Given the description of an element on the screen output the (x, y) to click on. 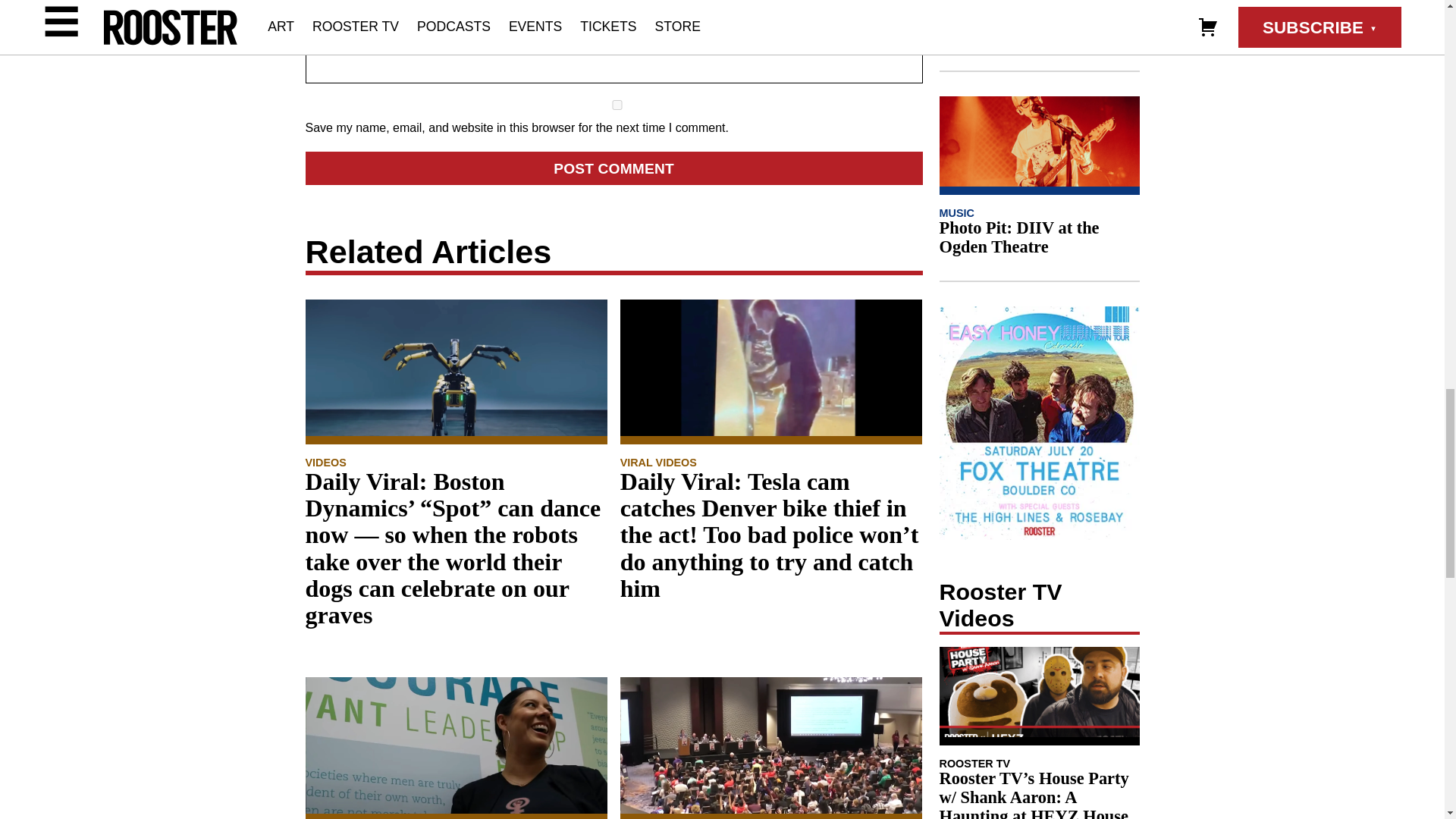
Post Comment (612, 168)
yes (615, 104)
